Given the description of an element on the screen output the (x, y) to click on. 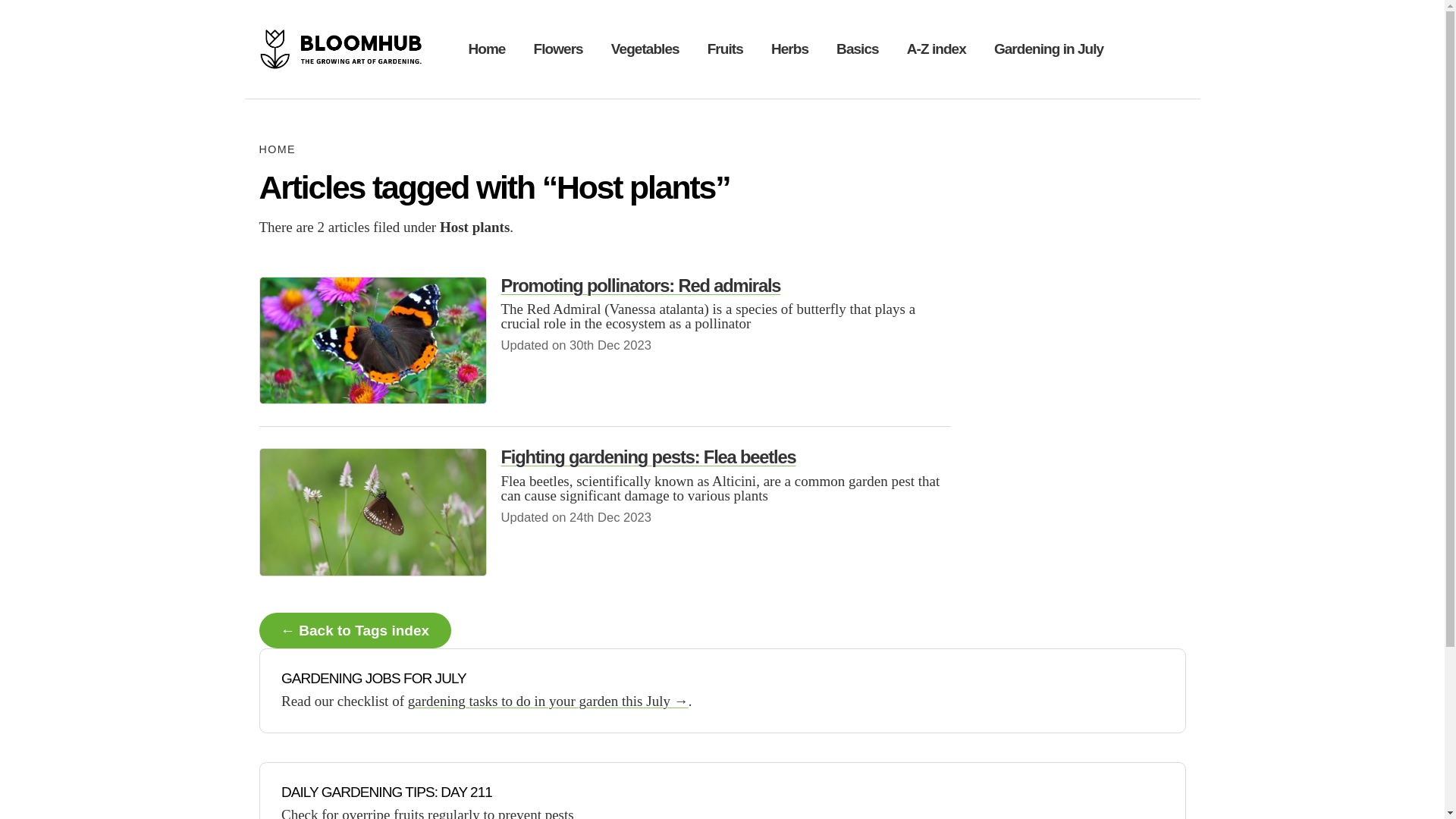
Flowers (558, 48)
Fruits (724, 48)
Promoting pollinators: Red admirals (640, 285)
Fighting gardening pests: Flea beetles (647, 456)
Vegetables (645, 48)
Home (486, 48)
Herbs (789, 48)
Check for overripe fruits regularly to prevent pests (427, 812)
Basics (857, 48)
HOME (277, 149)
